Given the description of an element on the screen output the (x, y) to click on. 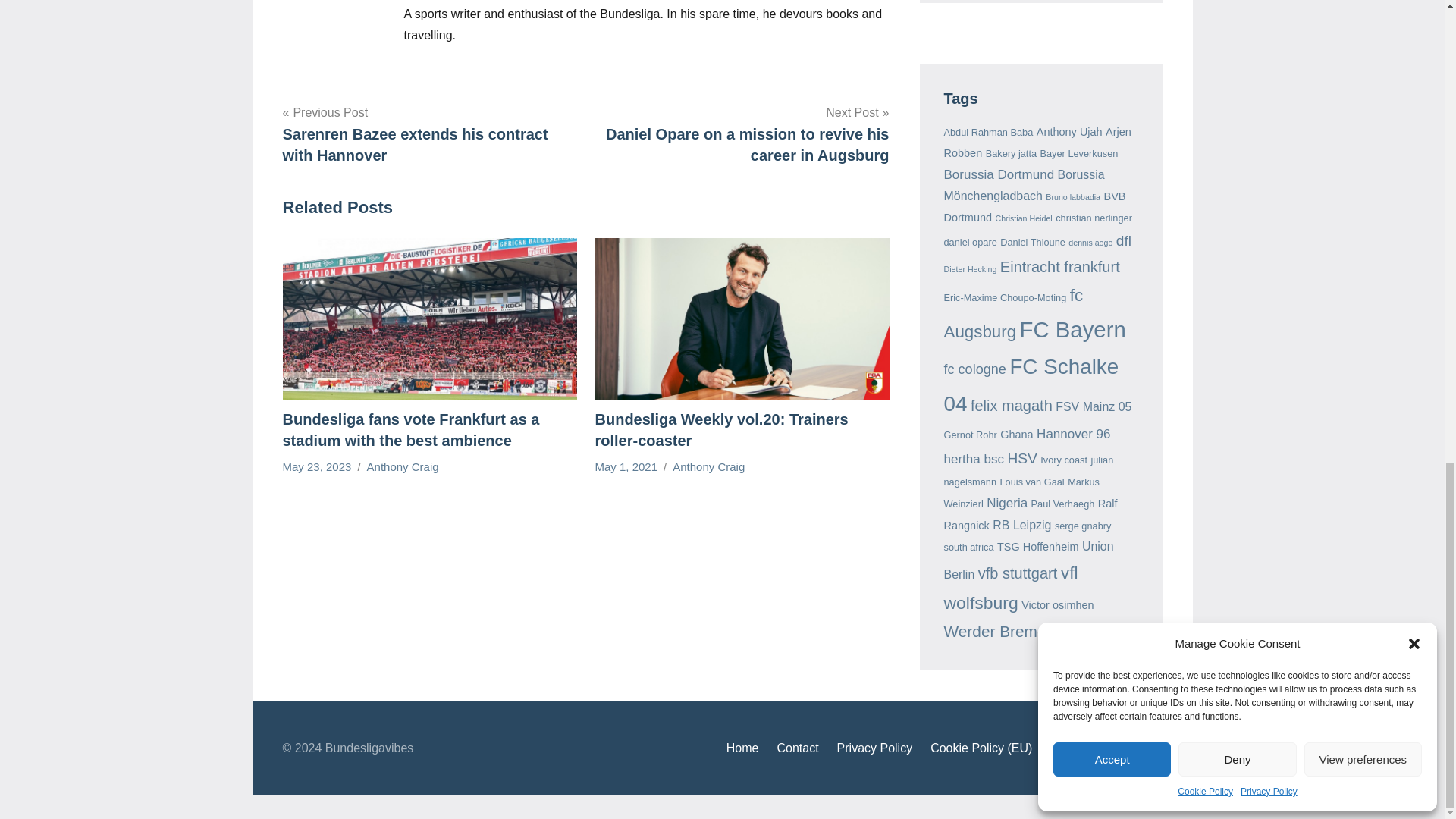
View all posts by Anthony Craig (708, 466)
7:53 (626, 466)
16:36 (316, 466)
View all posts by Anthony Craig (402, 466)
